Given the description of an element on the screen output the (x, y) to click on. 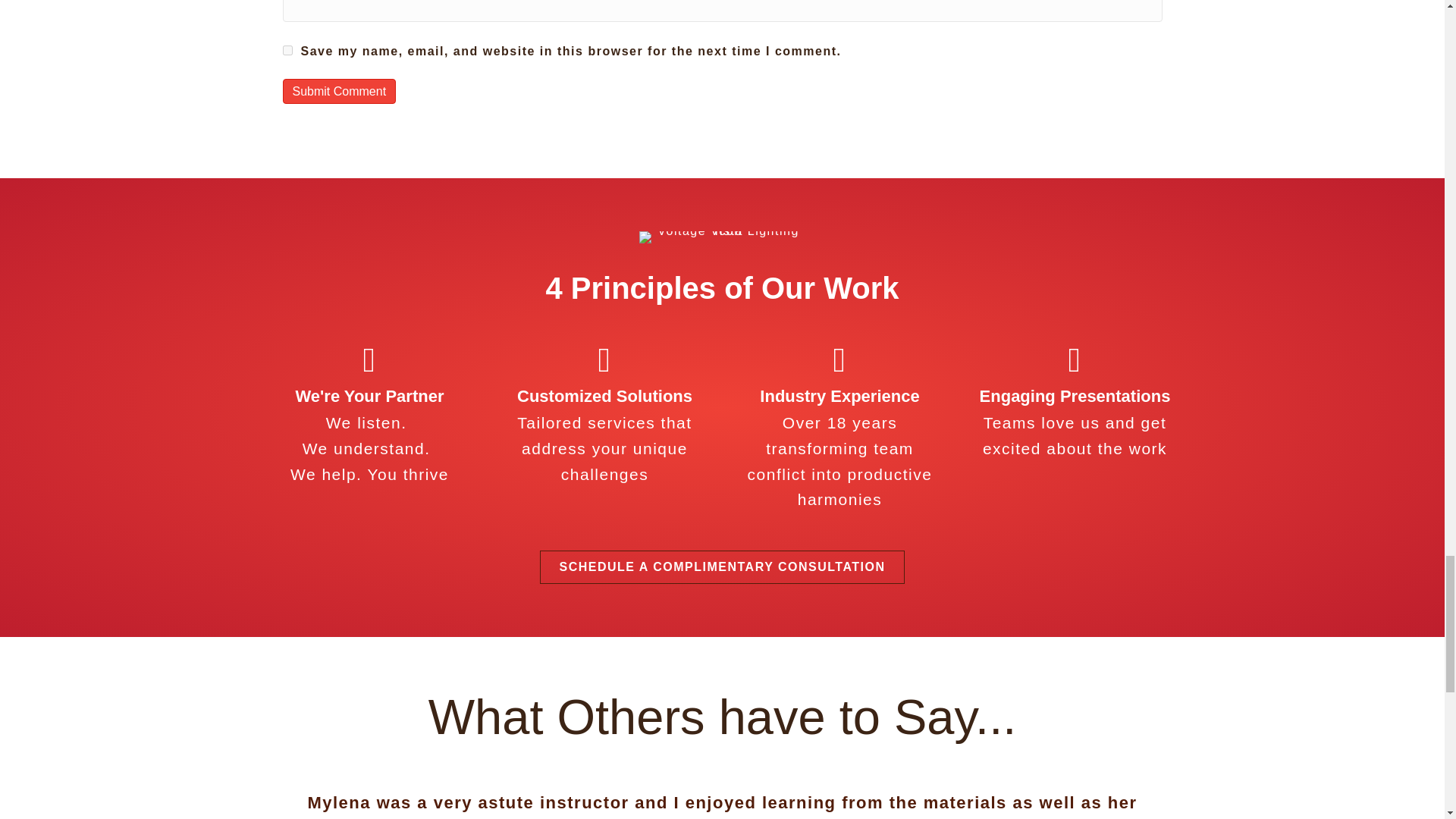
Submit Comment (339, 91)
yes (287, 50)
